Given the description of an element on the screen output the (x, y) to click on. 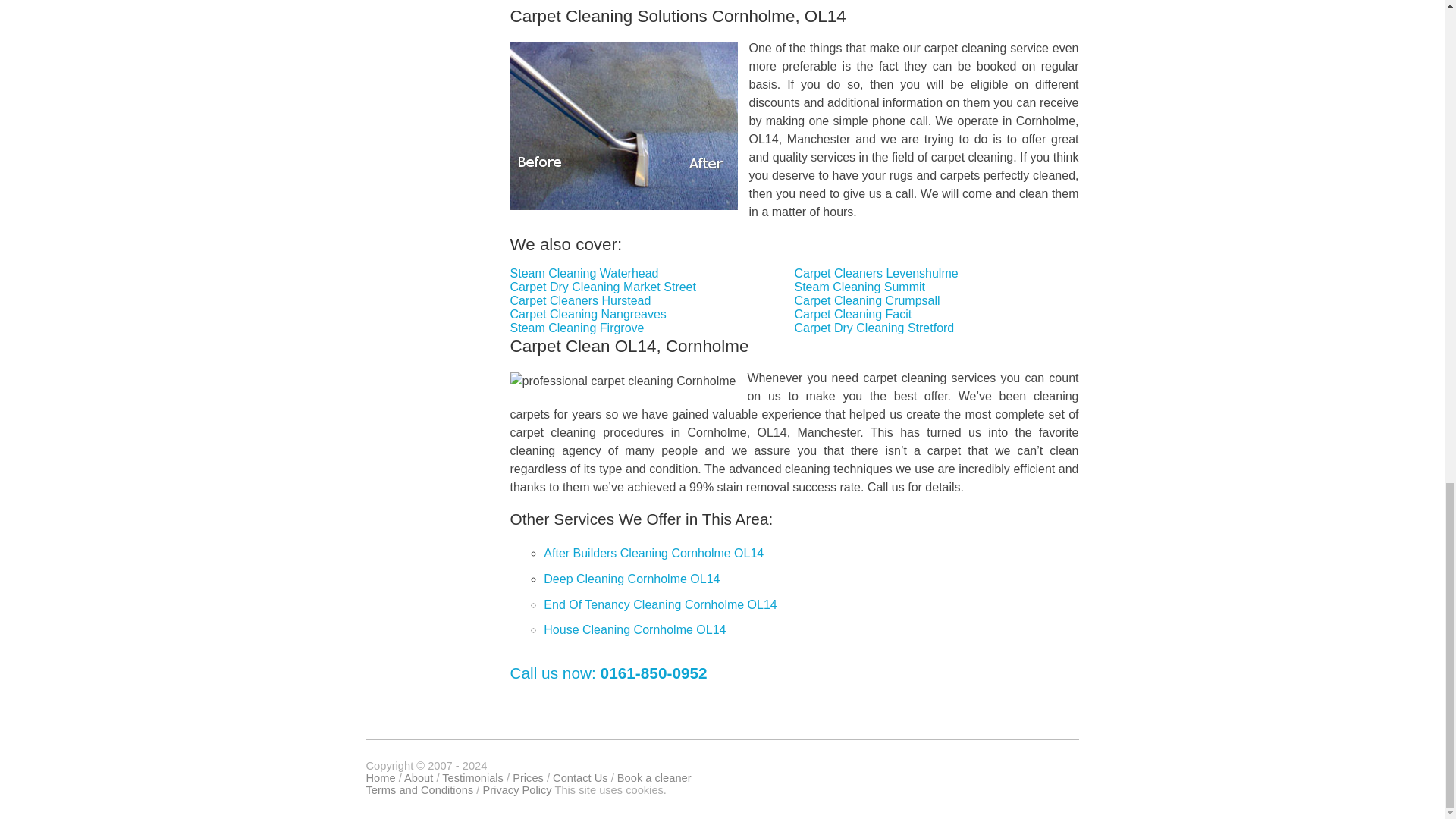
M19 Carpet Cleaners Levenshulme (876, 273)
OL16 Steam Cleaning Firgrove (578, 327)
Steam Cleaning Waterhead (585, 273)
OL4 Steam Cleaning Waterhead (585, 273)
M1 Carpet Dry Cleaning Market Street (603, 286)
Steam Cleaning Firgrove (578, 327)
Steam Cleaning Summit (860, 286)
Carpet Dry Cleaning Stretford (874, 327)
Carpet Cleaning Crumpsall (867, 300)
BL9 Carpet Cleaning Nangreaves (588, 314)
Home (379, 777)
Carpet Dry Cleaning Market Street (603, 286)
About (418, 777)
Deep Cleaning Cornholme OL14 (631, 578)
End Of Tenancy Cleaning Cornholme OL14 (659, 604)
